Given the description of an element on the screen output the (x, y) to click on. 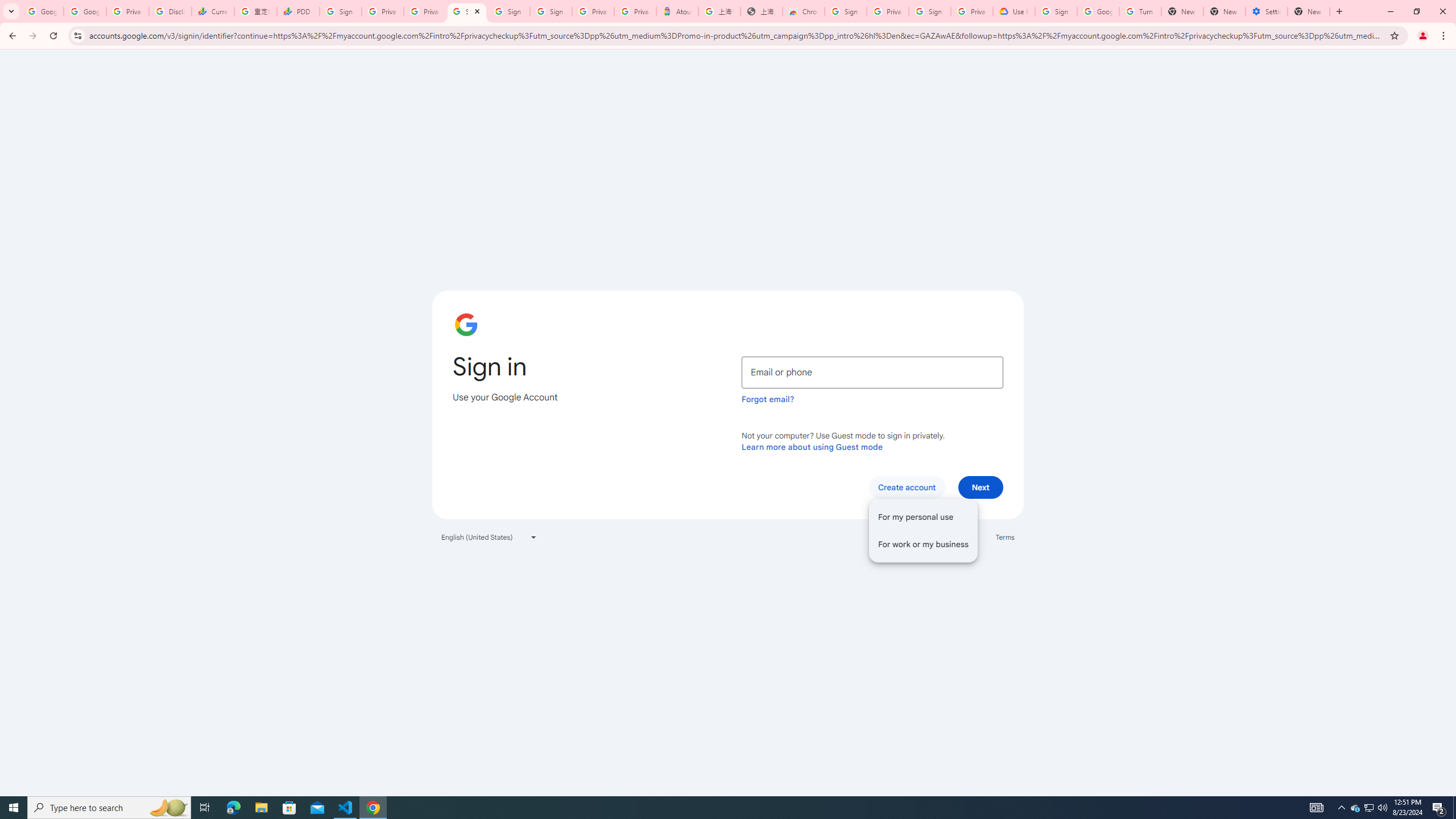
Sign in - Google Accounts (509, 11)
Currencies - Google Finance (212, 11)
Sign in - Google Accounts (340, 11)
PDD Holdings Inc - ADR (PDD) Price & News - Google Finance (298, 11)
Atour Hotel - Google hotels (676, 11)
